Given the description of an element on the screen output the (x, y) to click on. 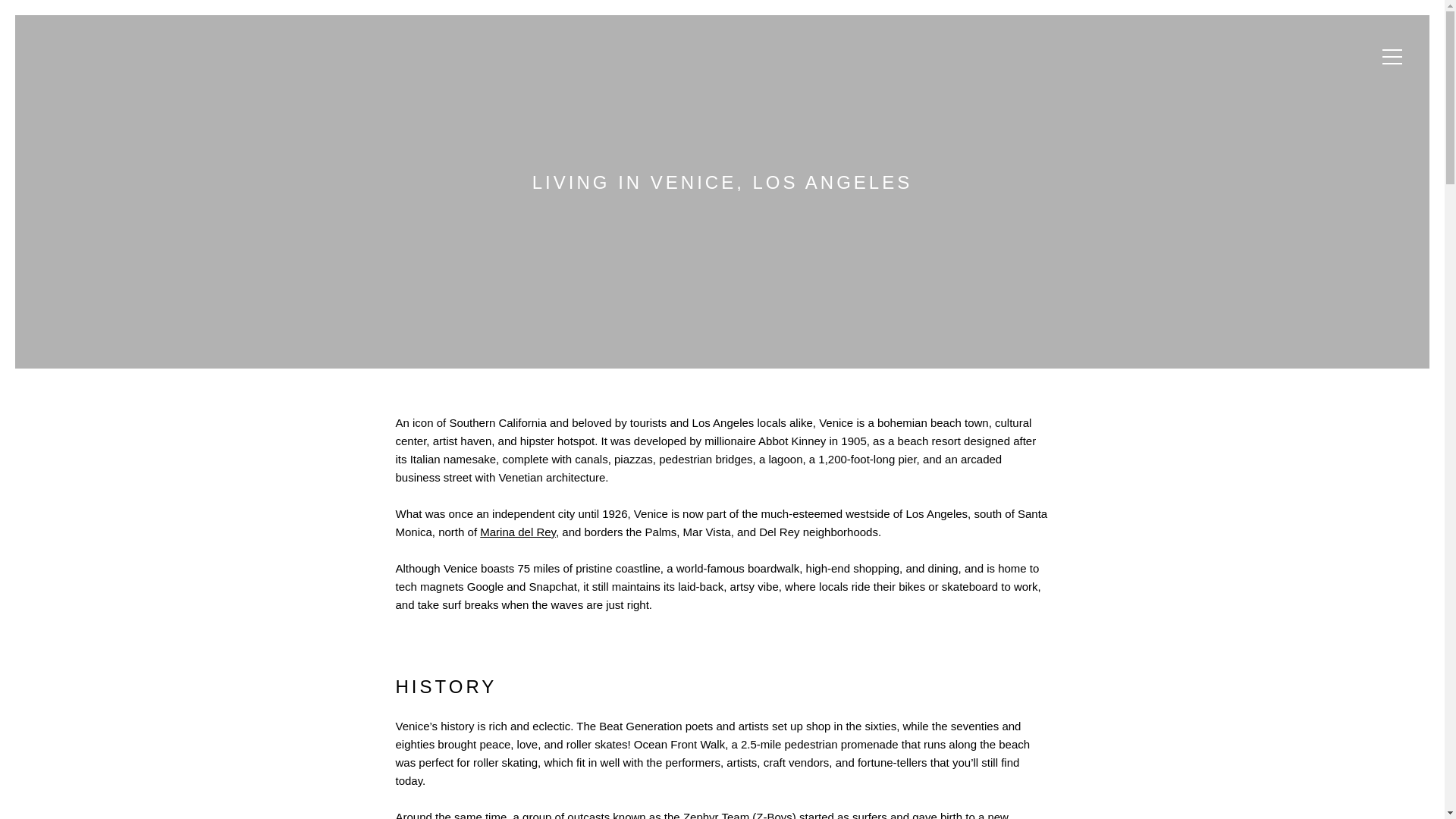
Marina del Rey (518, 531)
